Given the description of an element on the screen output the (x, y) to click on. 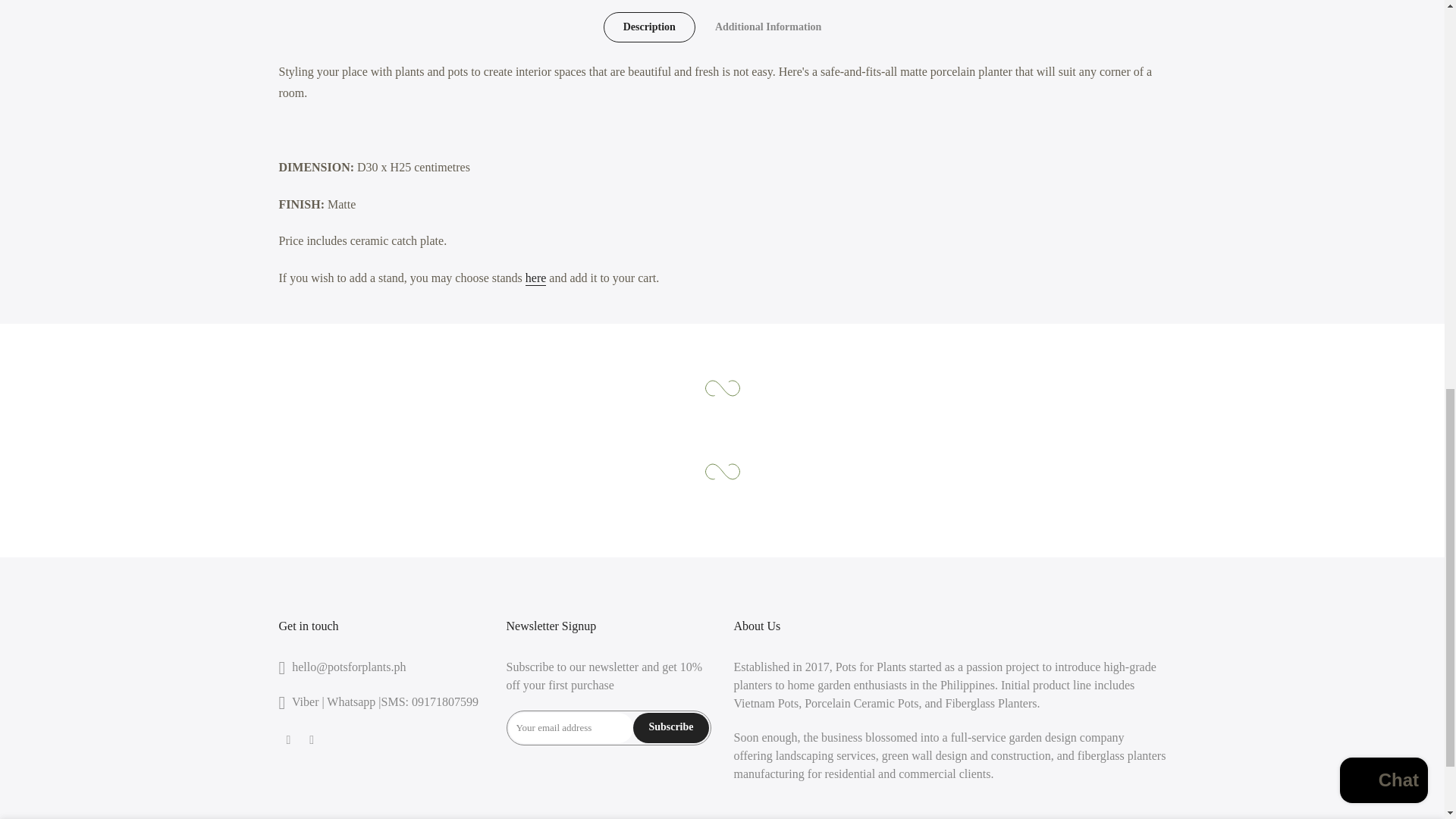
Planter Stands Collection (536, 278)
Description (649, 27)
here (536, 278)
1 (1001, 35)
Additional Information (768, 27)
